Given the description of an element on the screen output the (x, y) to click on. 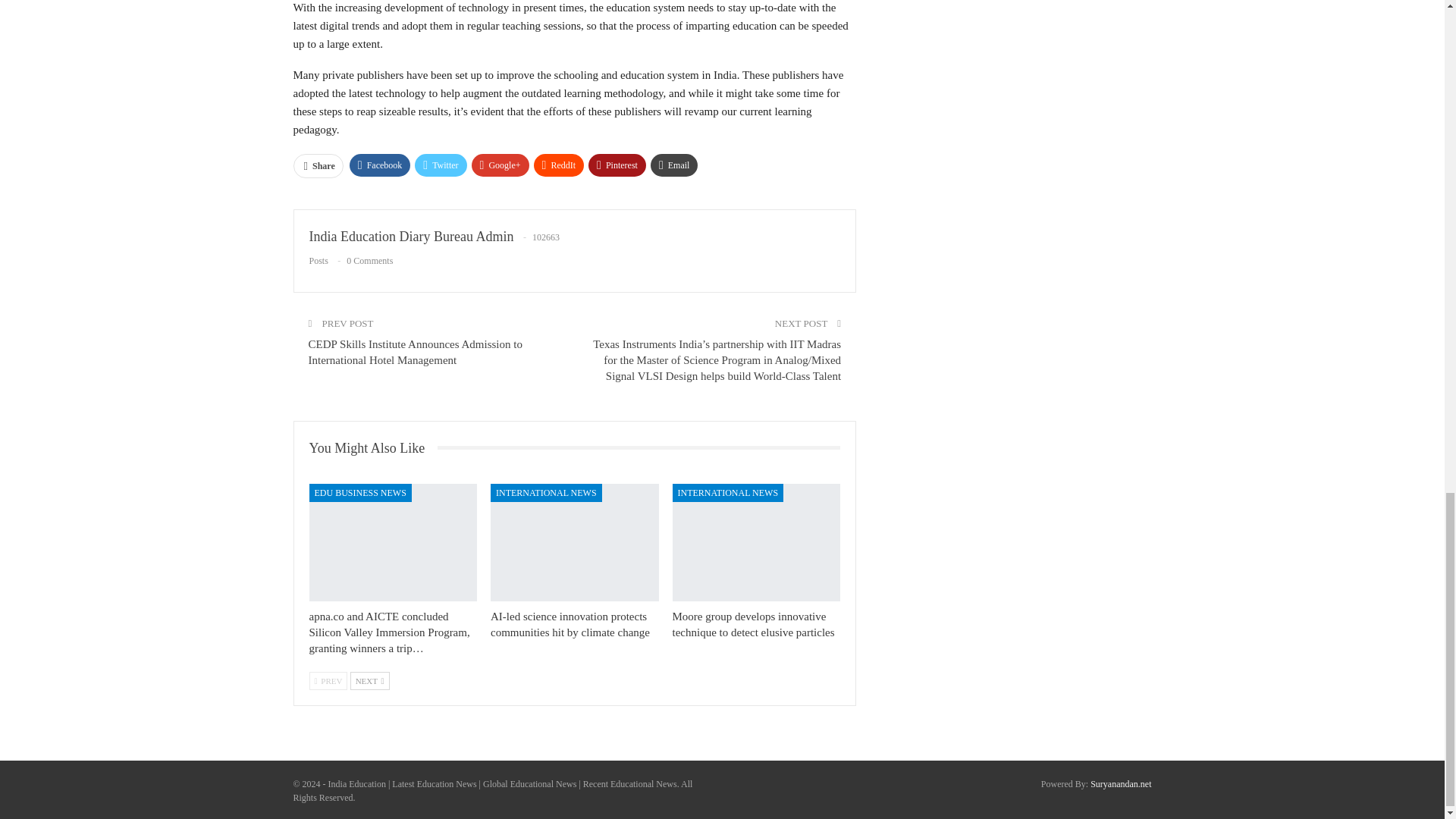
Next (370, 680)
Previous (327, 680)
